Given the description of an element on the screen output the (x, y) to click on. 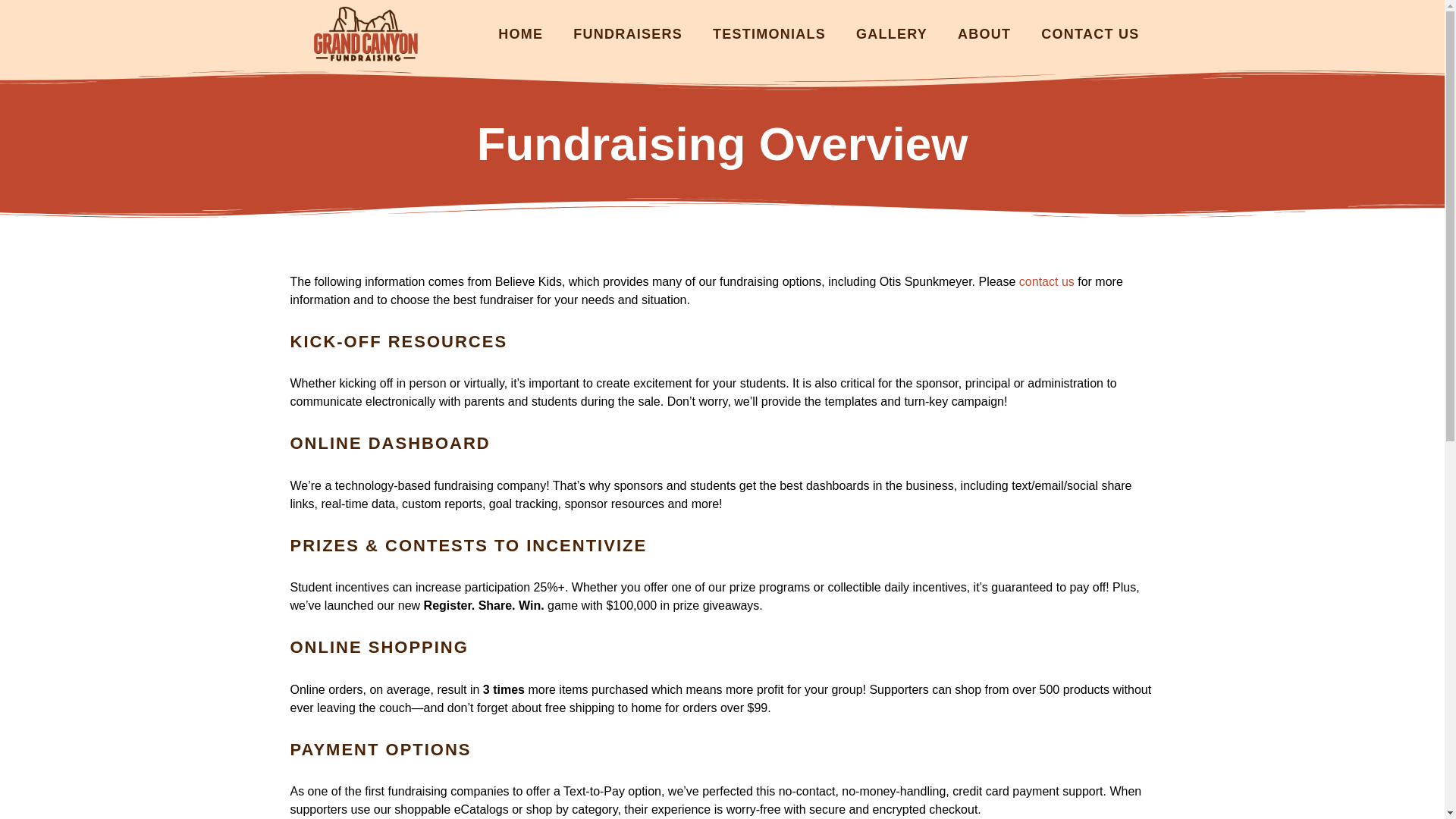
ABOUT (984, 33)
CONTACT US (1090, 33)
contact us (1046, 281)
TESTIMONIALS (769, 33)
HOME (520, 33)
FUNDRAISERS (627, 33)
GALLERY (891, 33)
